Given the description of an element on the screen output the (x, y) to click on. 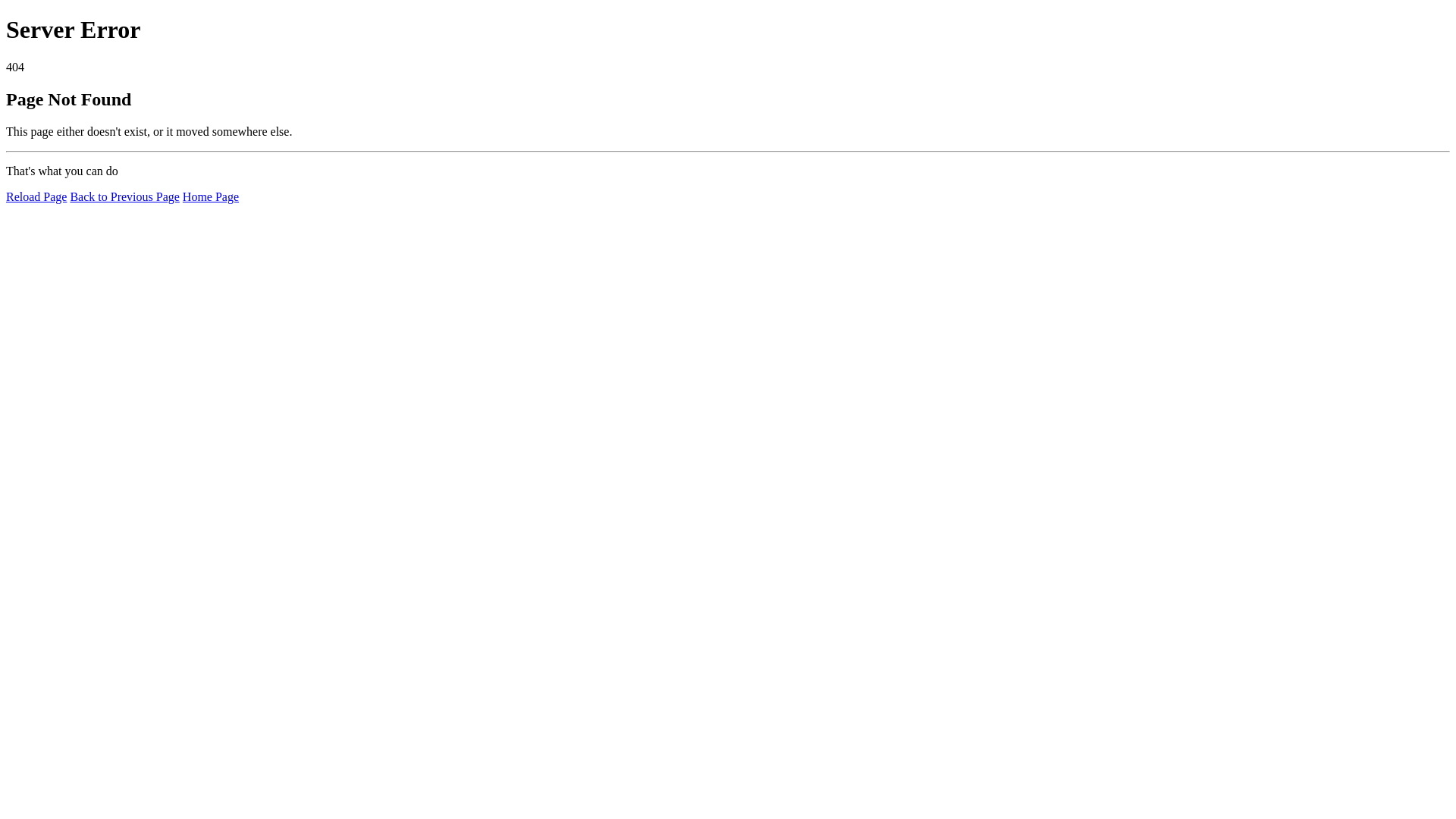
Back to Previous Page Element type: text (123, 196)
Home Page Element type: text (210, 196)
Reload Page Element type: text (36, 196)
